Given the description of an element on the screen output the (x, y) to click on. 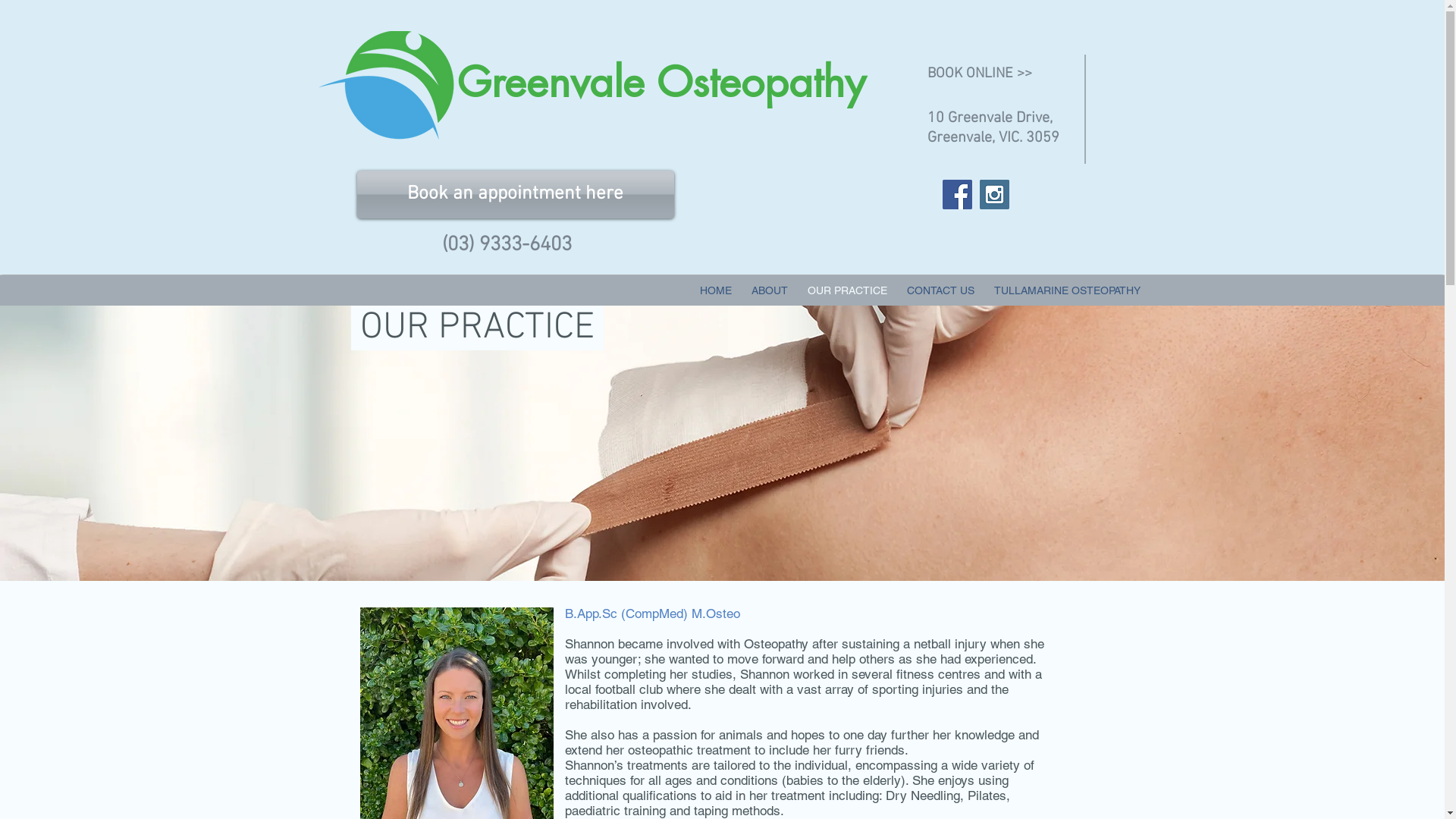
Massage Element type: hover (721, 485)
OUR PRACTICE Element type: text (847, 290)
TULLAMARINE OSTEOPATHY Element type: text (1067, 290)
ABOUT Element type: text (769, 290)
HOME Element type: text (715, 290)
logoclear.png Element type: hover (389, 86)
CONTACT US Element type: text (939, 290)
Book an appointment here Element type: text (514, 194)
BOOK ONLINE >> Element type: text (1000, 74)
